Given the description of an element on the screen output the (x, y) to click on. 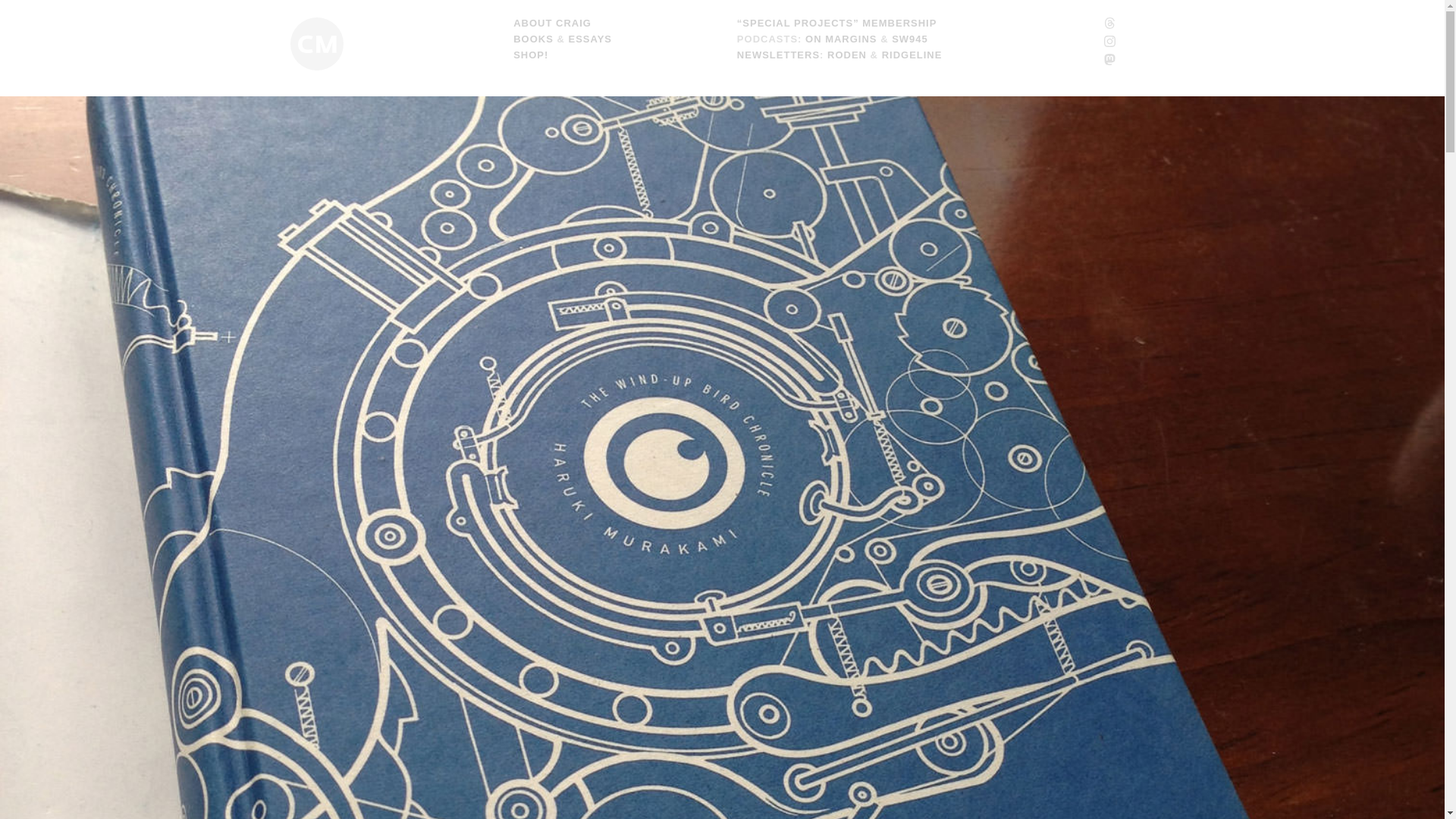
BOOKS (533, 38)
RODEN (846, 54)
RIDGELINE (912, 54)
ABOUT CRAIG (552, 23)
ON MARGINS (841, 38)
SHOP! (530, 54)
NEWSLETTERS (777, 54)
SW945 (909, 38)
ESSAYS (589, 38)
